Given the description of an element on the screen output the (x, y) to click on. 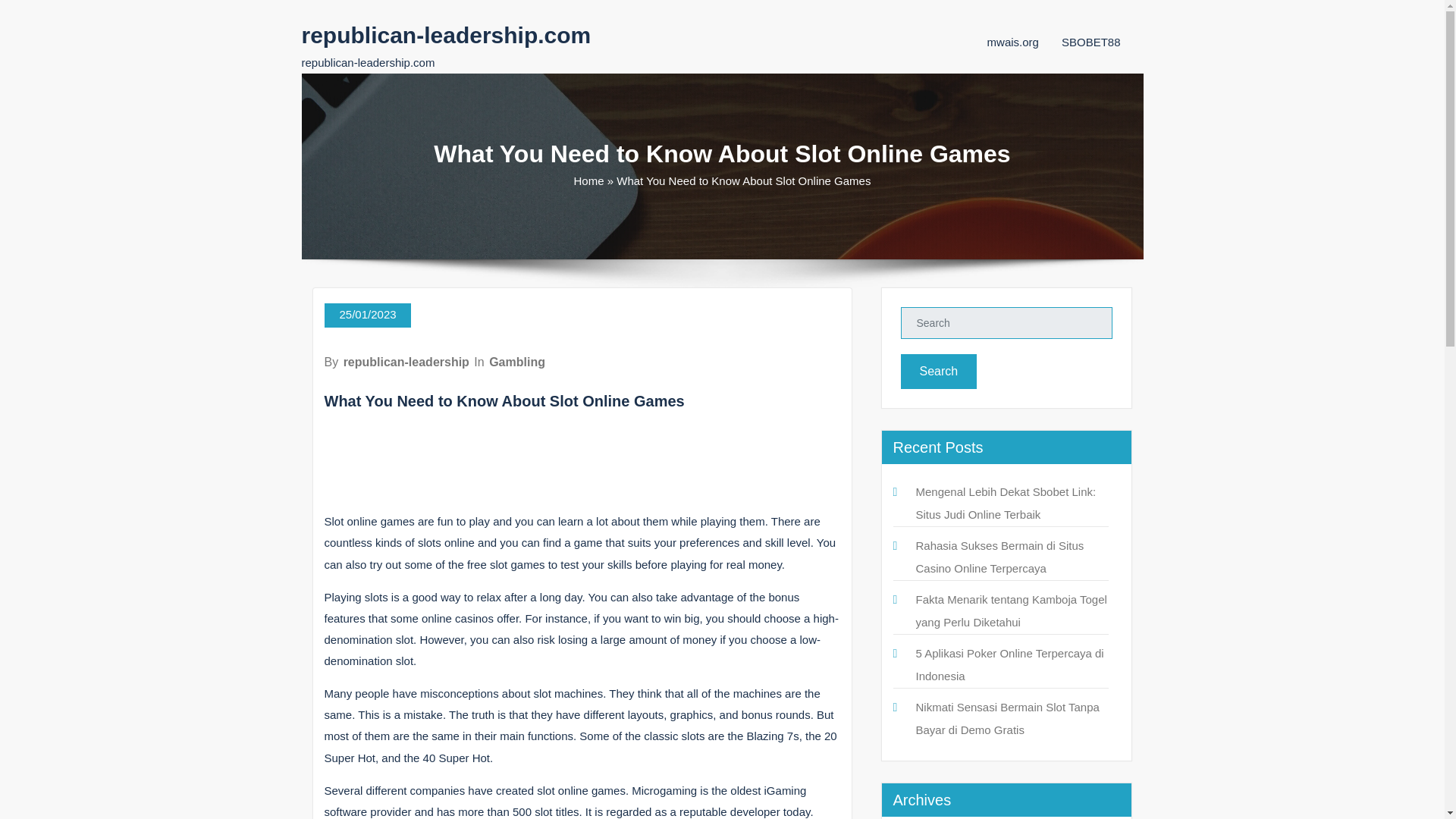
Search (938, 371)
mwais.org (1013, 41)
Gambling (517, 361)
Nikmati Sensasi Bermain Slot Tanpa Bayar di Demo Gratis (1007, 718)
Rahasia Sukses Bermain di Situs Casino Online Terpercaya (999, 556)
Mengenal Lebih Dekat Sbobet Link: Situs Judi Online Terbaik (1005, 502)
5 Aplikasi Poker Online Terpercaya di Indonesia (1009, 664)
republican-leadership.com (446, 34)
republican-leadership (406, 361)
SBOBET88 (1091, 41)
Home (588, 180)
Fakta Menarik tentang Kamboja Togel yang Perlu Diketahui (1010, 610)
